Given the description of an element on the screen output the (x, y) to click on. 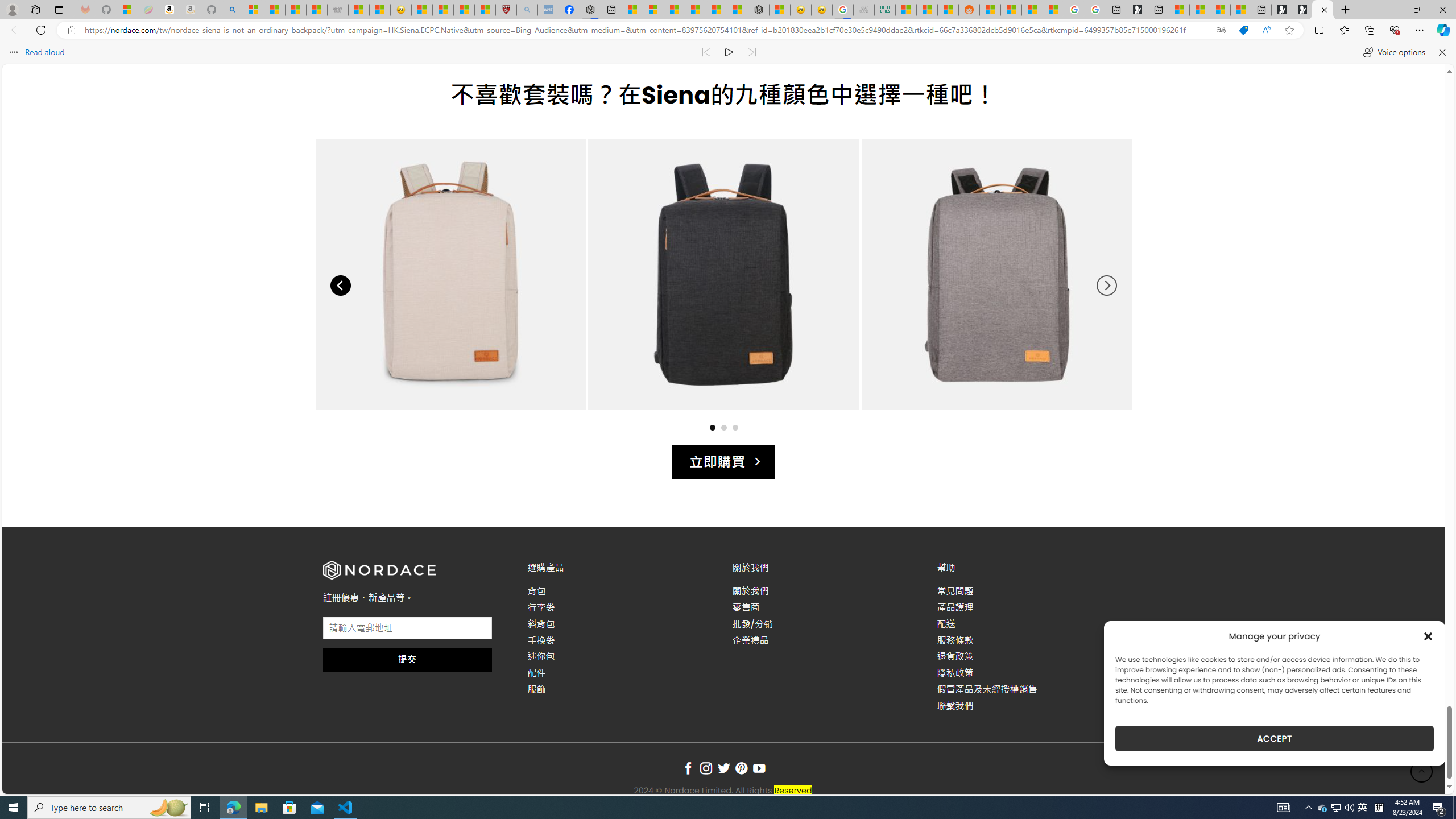
Previous (340, 285)
